Given the description of an element on the screen output the (x, y) to click on. 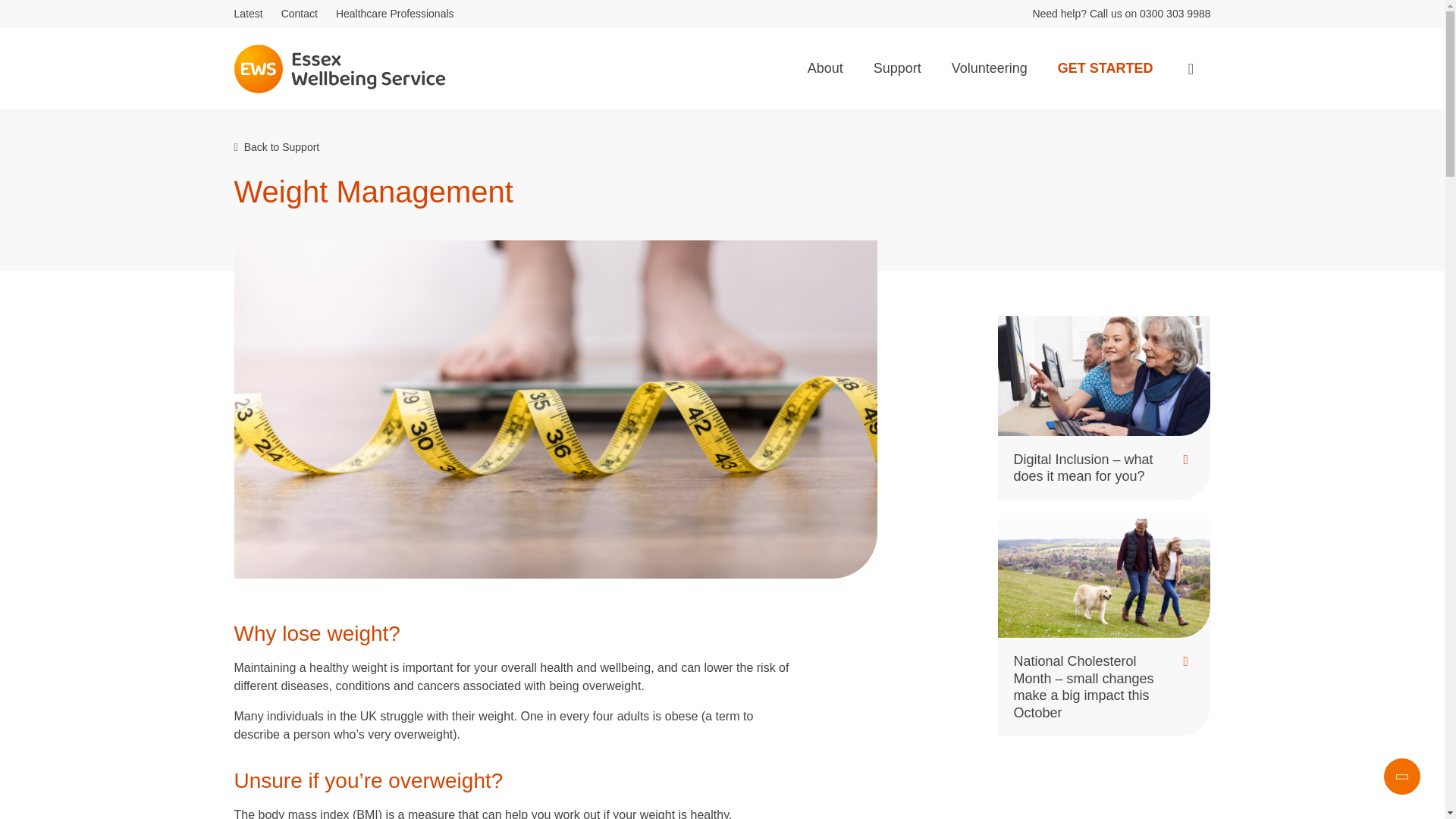
Healthcare Professionals (395, 13)
Latest (247, 13)
Back to Support (275, 146)
GET STARTED (1105, 67)
Contact (299, 13)
Volunteering (989, 67)
0300 303 9988 (1174, 13)
